Given the description of an element on the screen output the (x, y) to click on. 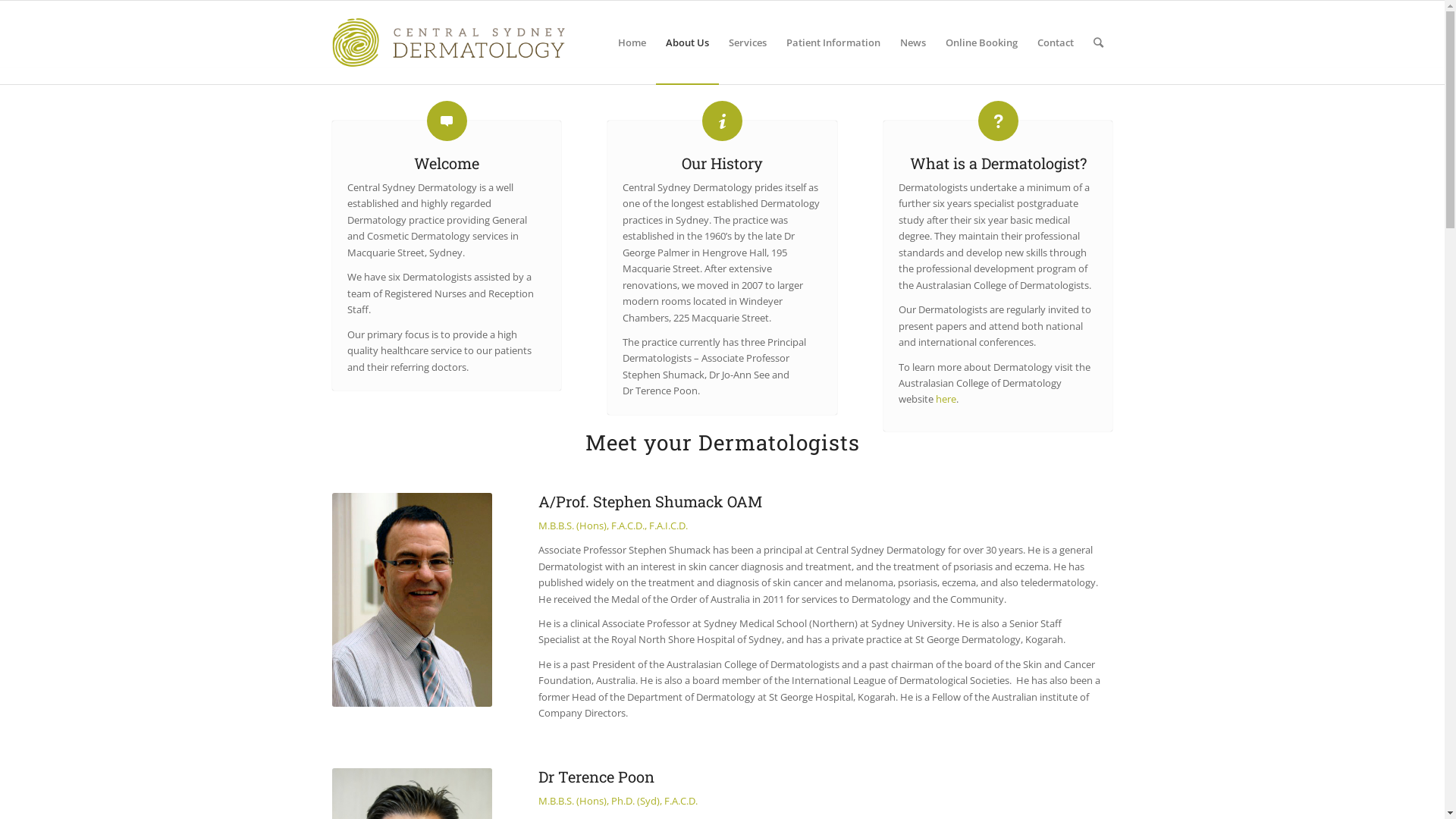
Contact Element type: text (1054, 42)
here Element type: text (945, 398)
Services Element type: text (747, 42)
About Us Element type: text (686, 42)
Patient Information Element type: text (833, 42)
Online Booking Element type: text (981, 42)
Home Element type: text (631, 42)
News Element type: text (912, 42)
AboutUs-Stephen Element type: hover (412, 599)
